Given the description of an element on the screen output the (x, y) to click on. 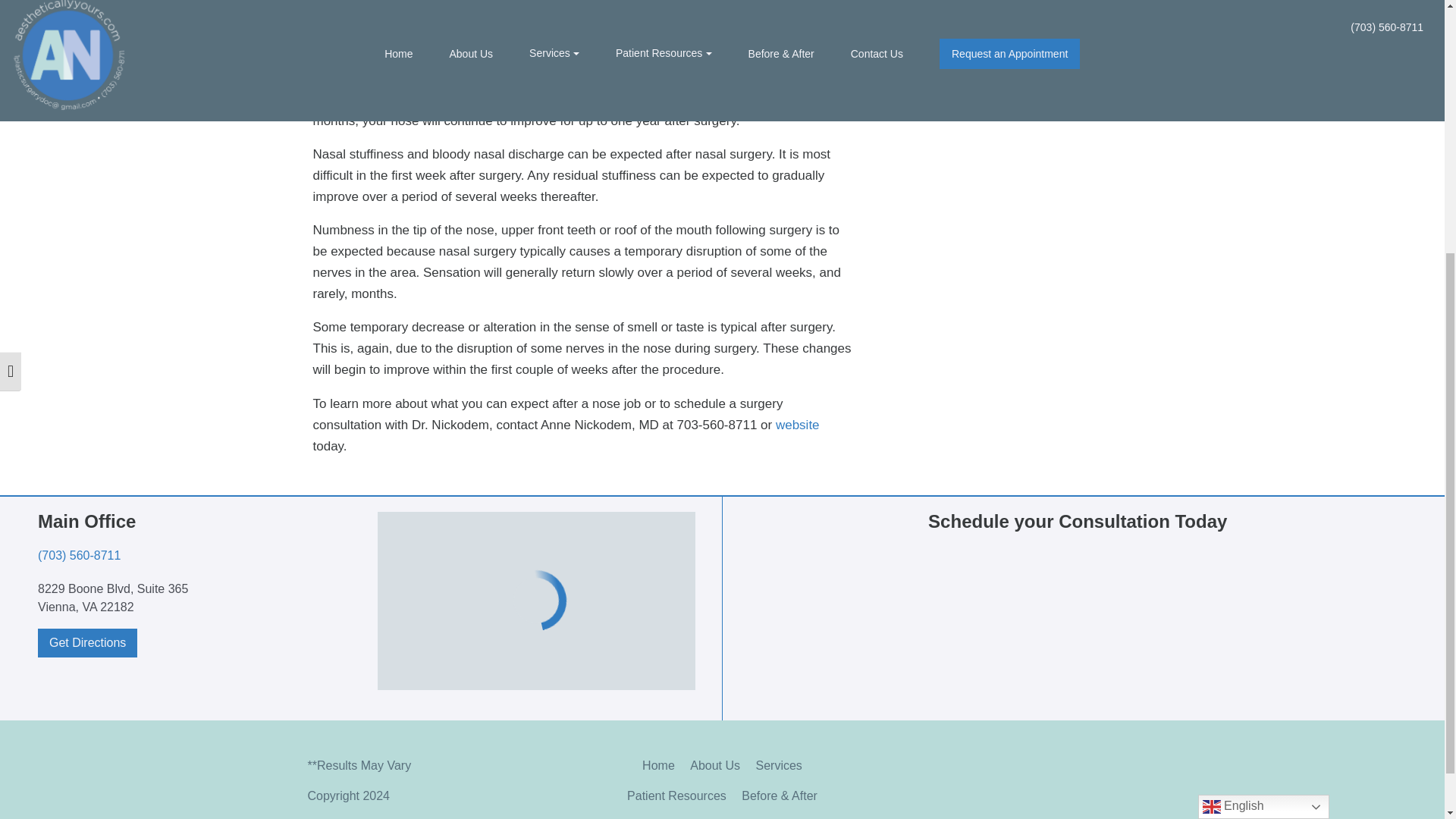
Toggle Font size (10, 5)
